Given the description of an element on the screen output the (x, y) to click on. 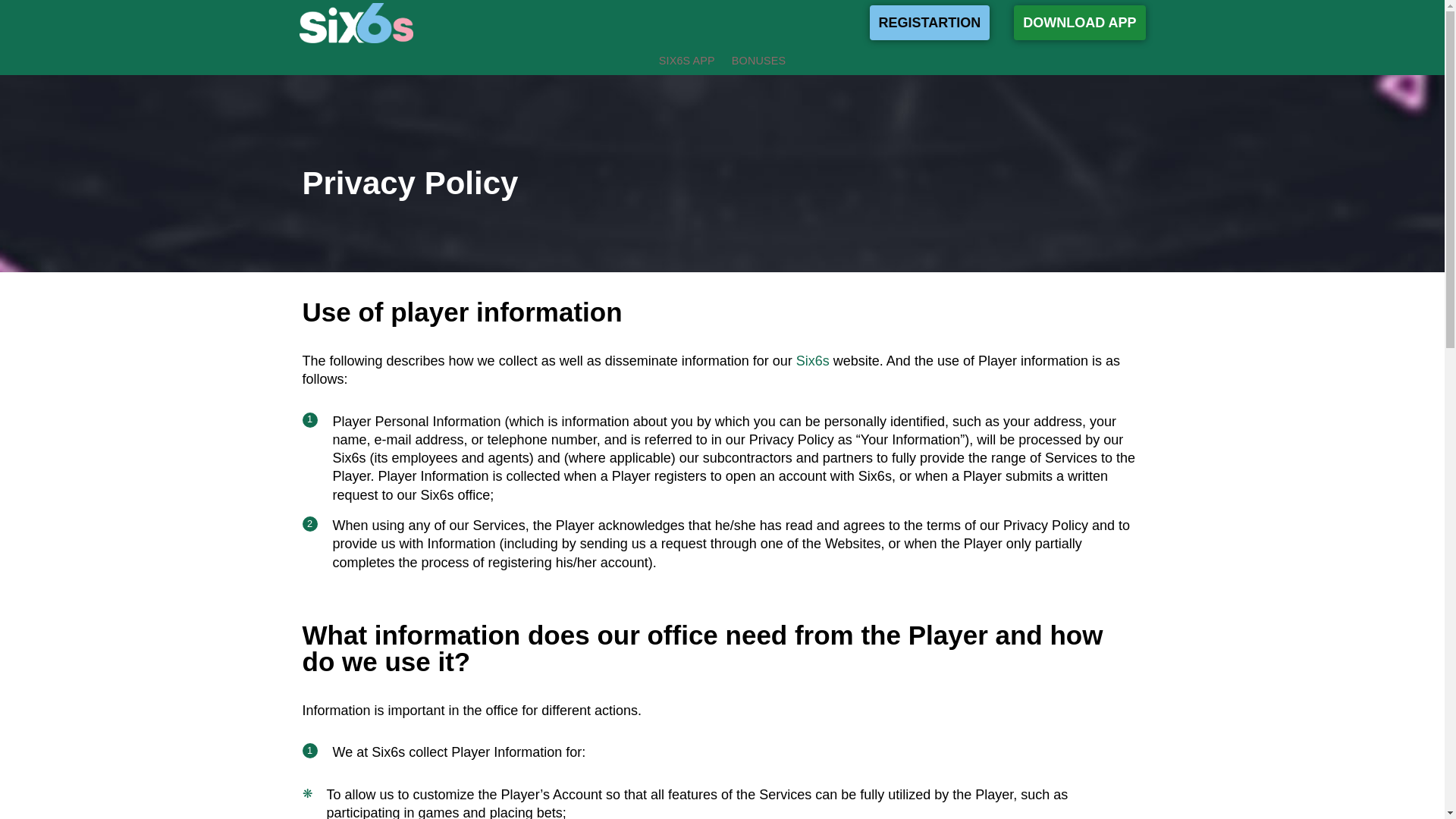
DOWNLOAD APP (1078, 22)
BONUSES (758, 60)
SIX6S APP (686, 60)
Six6s (812, 360)
REGISTARTION (929, 22)
